Given the description of an element on the screen output the (x, y) to click on. 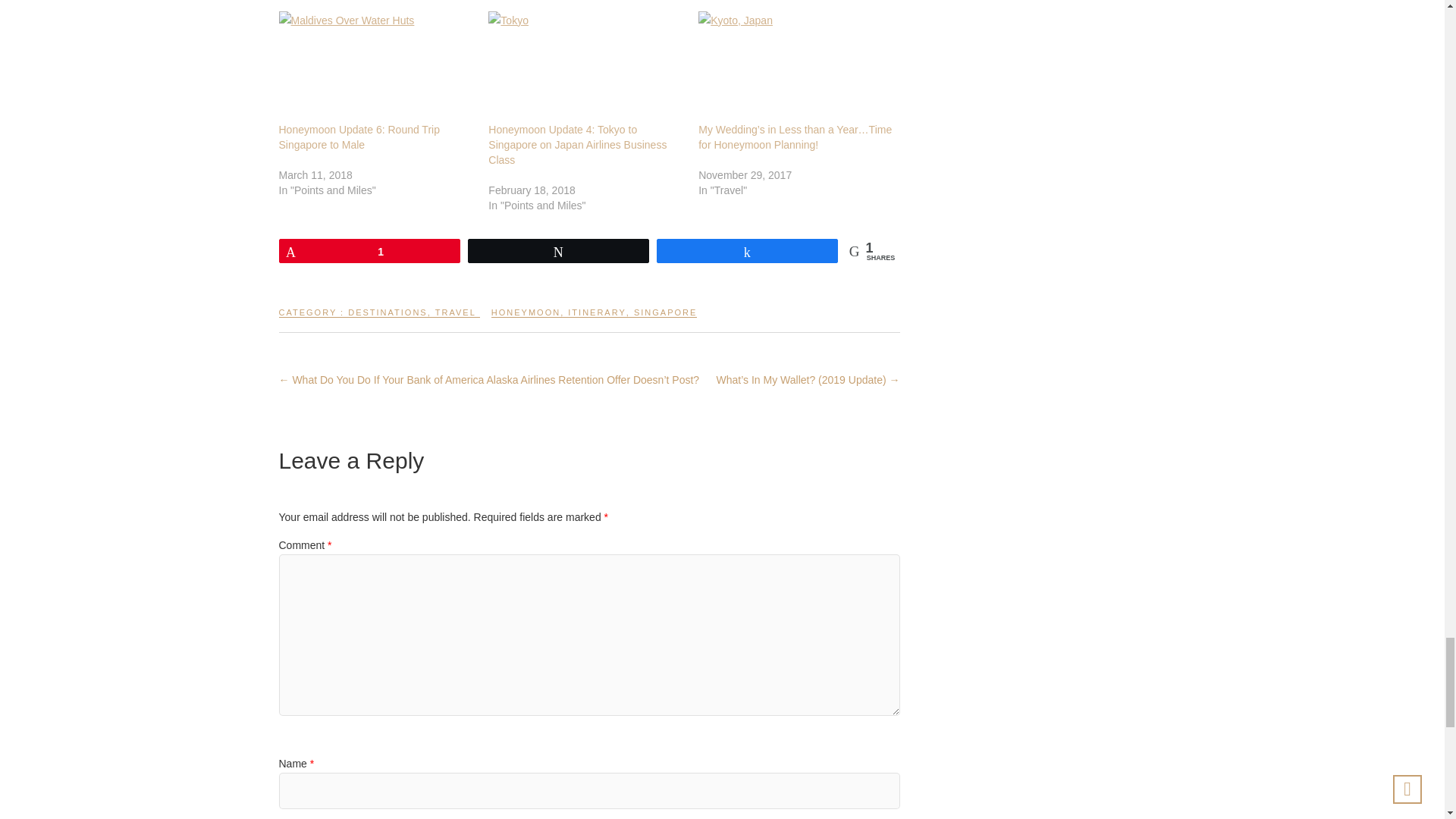
Honeymoon Update 6: Round Trip Singapore to Male (376, 66)
Honeymoon Update 6: Round Trip Singapore to Male (359, 136)
